Given the description of an element on the screen output the (x, y) to click on. 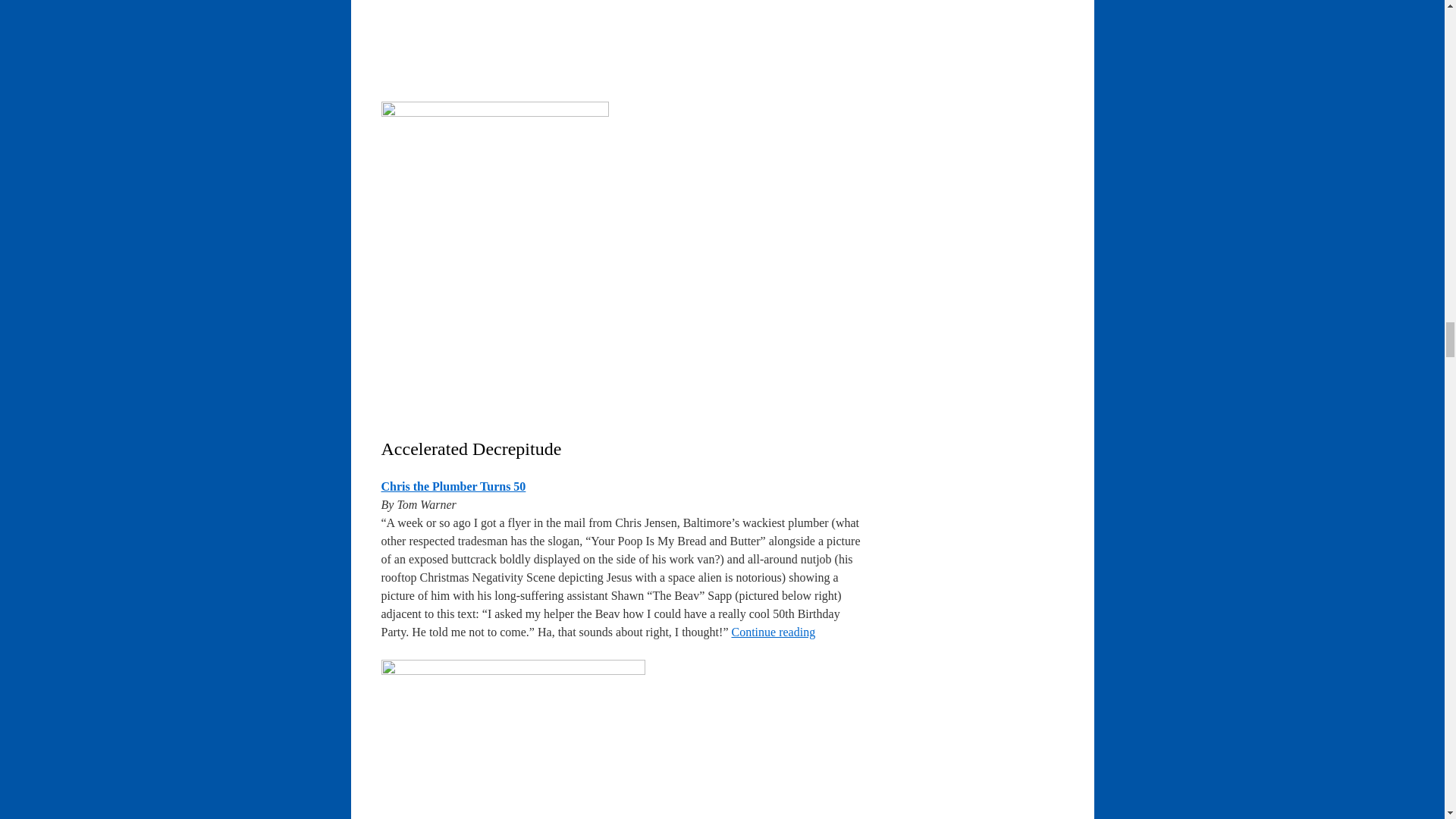
YouTube video player (592, 38)
